Given the description of an element on the screen output the (x, y) to click on. 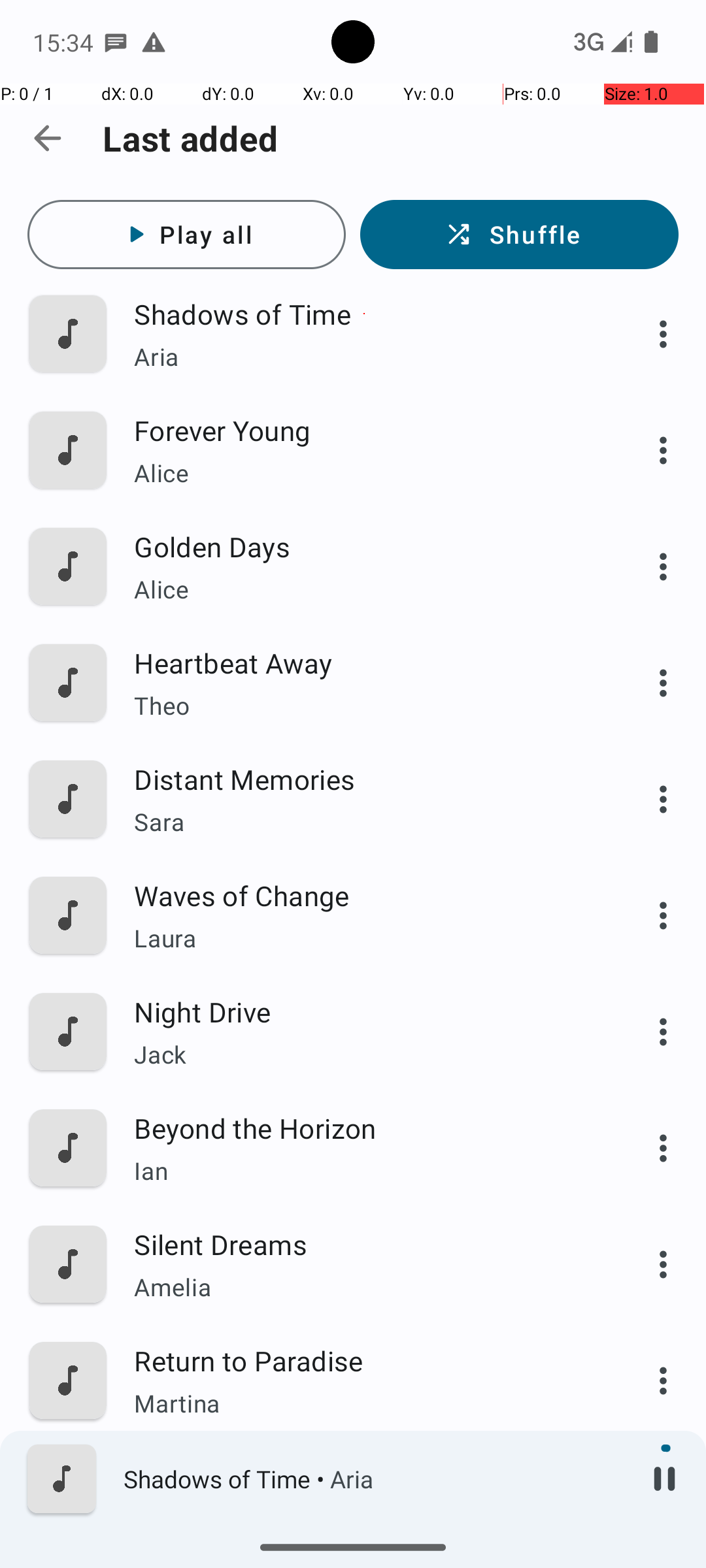
Last added Element type: android.widget.TextView (190, 137)
Shadows of Time • Aria Element type: android.widget.TextView (372, 1478)
Play all Element type: android.widget.Button (186, 234)
Shuffle Element type: android.widget.Button (519, 234)
Shadows of Time Element type: android.widget.TextView (363, 313)
Aria Element type: android.widget.TextView (363, 356)
Forever Young Element type: android.widget.TextView (363, 429)
Alice Element type: android.widget.TextView (363, 472)
Golden Days Element type: android.widget.TextView (363, 546)
Heartbeat Away Element type: android.widget.TextView (363, 662)
Theo Element type: android.widget.TextView (363, 704)
Distant Memories Element type: android.widget.TextView (363, 778)
Sara Element type: android.widget.TextView (363, 821)
Waves of Change Element type: android.widget.TextView (363, 895)
Laura Element type: android.widget.TextView (363, 937)
Night Drive Element type: android.widget.TextView (363, 1011)
Jack Element type: android.widget.TextView (363, 1053)
Beyond the Horizon Element type: android.widget.TextView (363, 1127)
Ian Element type: android.widget.TextView (363, 1170)
Silent Dreams Element type: android.widget.TextView (363, 1243)
Amelia Element type: android.widget.TextView (363, 1286)
Return to Paradise Element type: android.widget.TextView (363, 1360)
Martina Element type: android.widget.TextView (363, 1402)
Path to Zenith Element type: android.widget.TextView (363, 1476)
Henry Element type: android.widget.TextView (363, 1518)
